Given the description of an element on the screen output the (x, y) to click on. 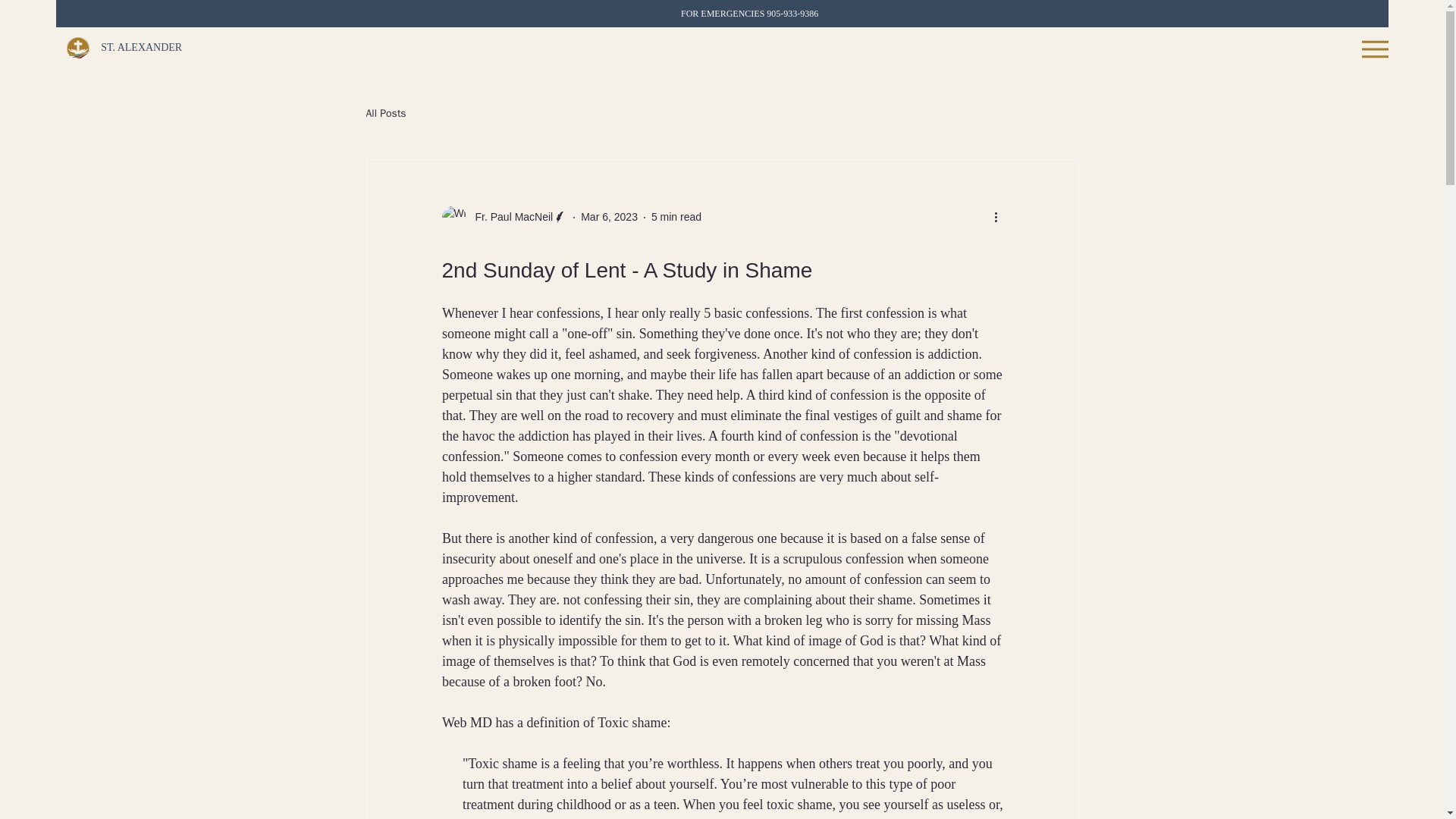
5 min read (675, 216)
All Posts (385, 113)
Mar 6, 2023 (608, 216)
Fr. Paul MacNeil (509, 217)
ST. ALEXANDER (141, 47)
